Given the description of an element on the screen output the (x, y) to click on. 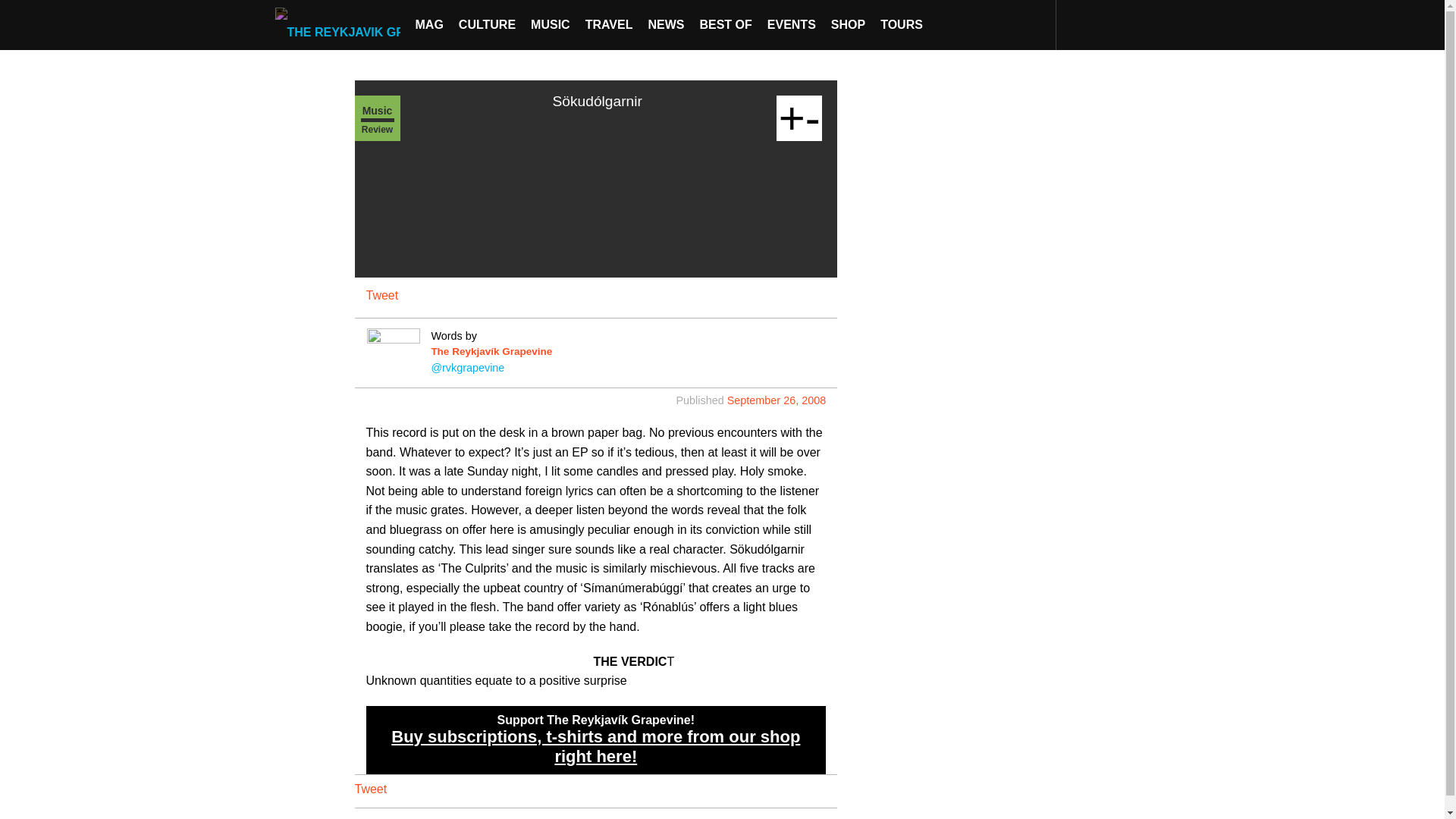
Tweet (381, 295)
BEST OF (724, 24)
EVENTS (792, 24)
MUSIC (550, 24)
SHOP (848, 24)
NEWS (665, 24)
CULTURE (486, 24)
TRAVEL (609, 24)
TOURS (901, 24)
